Given the description of an element on the screen output the (x, y) to click on. 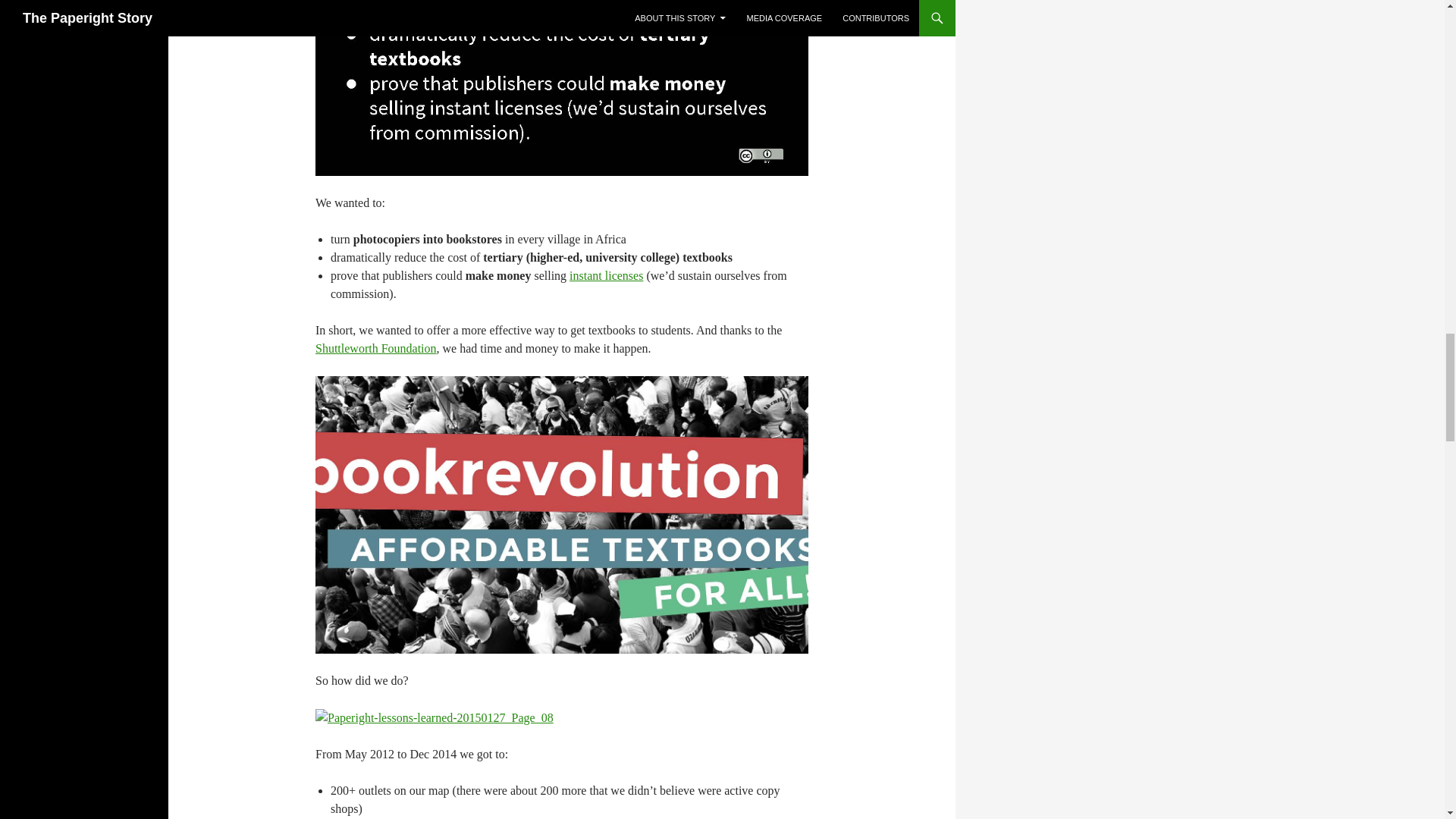
instant licenses (606, 275)
Shuttleworth Foundation (375, 348)
